Given the description of an element on the screen output the (x, y) to click on. 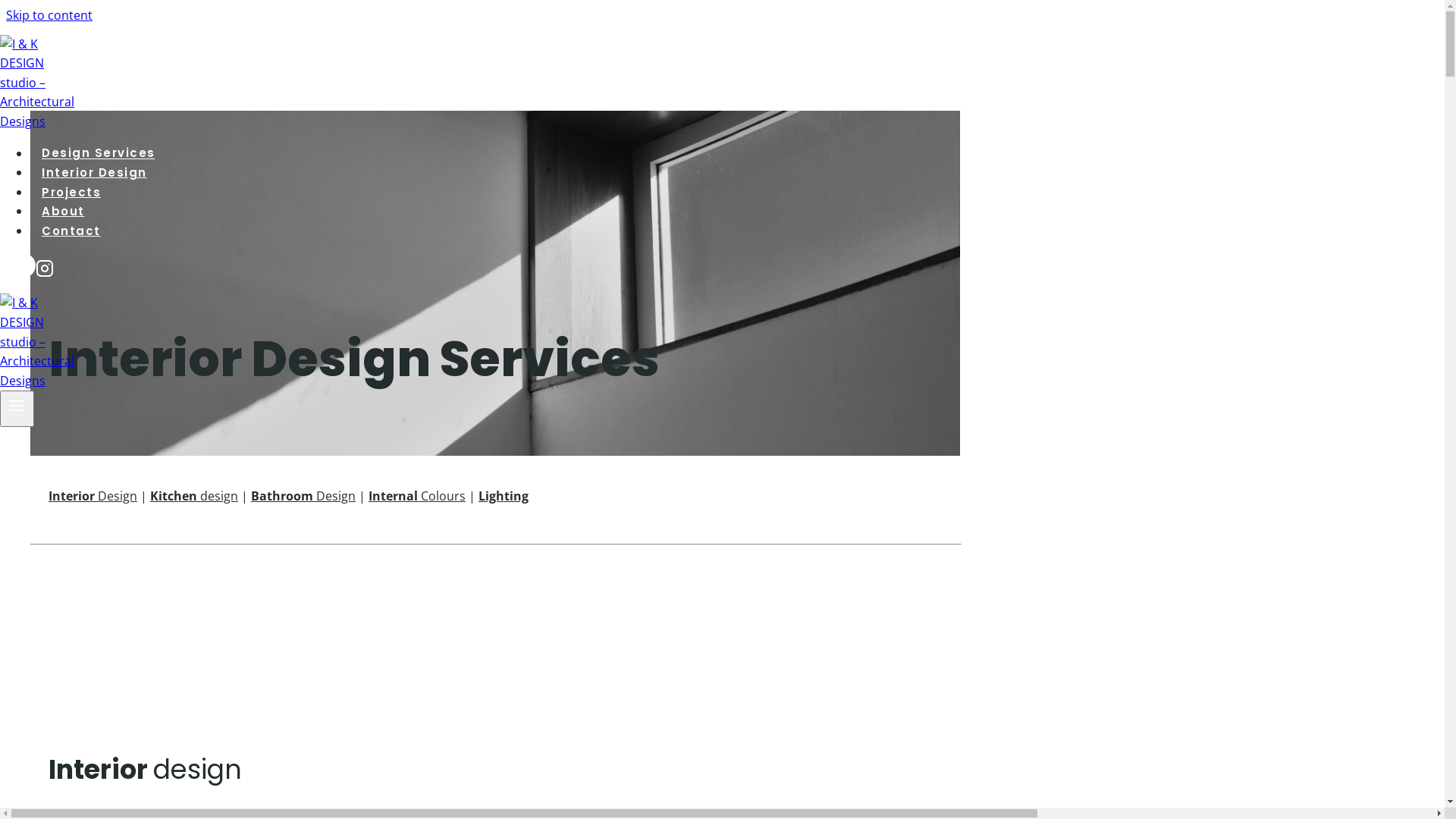
Skip to content Element type: text (49, 14)
Toggle Menu Element type: text (17, 408)
About Element type: text (63, 211)
Design Services Element type: text (98, 153)
Interior Design Element type: text (92, 495)
Instagram Element type: text (44, 270)
Bathroom Design Element type: text (303, 495)
Projects Element type: text (71, 191)
Kitchen design Element type: text (194, 495)
Facebook Element type: text (23, 270)
Contact Element type: text (71, 231)
Lighting Element type: text (503, 495)
Interior Design Element type: text (94, 172)
Internal Colours Element type: text (416, 495)
